Given the description of an element on the screen output the (x, y) to click on. 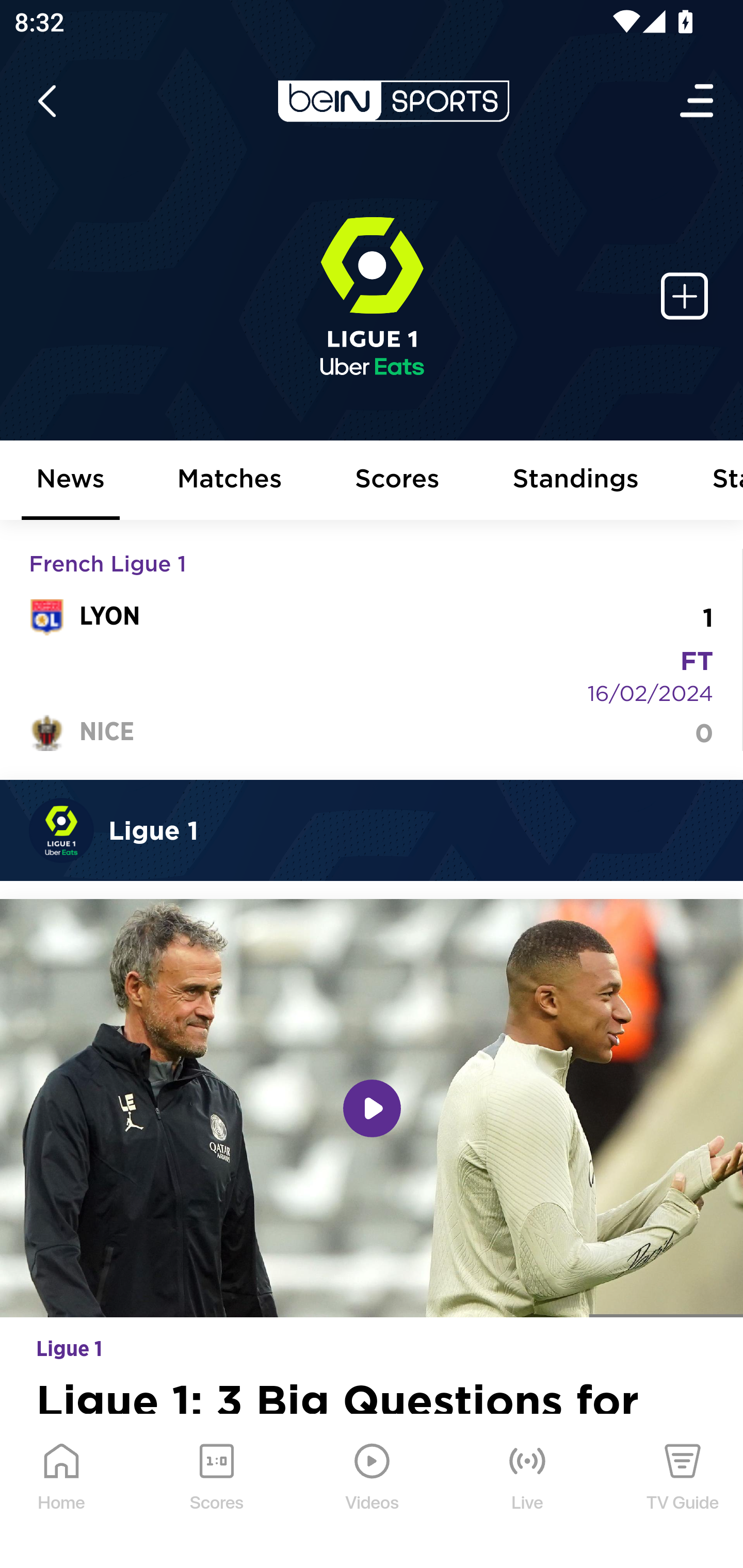
en-us?platform=mobile_android bein logo white (392, 101)
icon back (46, 101)
Open Menu Icon (697, 101)
News (70, 480)
Matches (229, 480)
Scores (397, 480)
Standings (575, 480)
Home Home Icon Home (61, 1491)
Scores Scores Icon Scores (216, 1491)
Videos Videos Icon Videos (372, 1491)
TV Guide TV Guide Icon TV Guide (682, 1491)
